Given the description of an element on the screen output the (x, y) to click on. 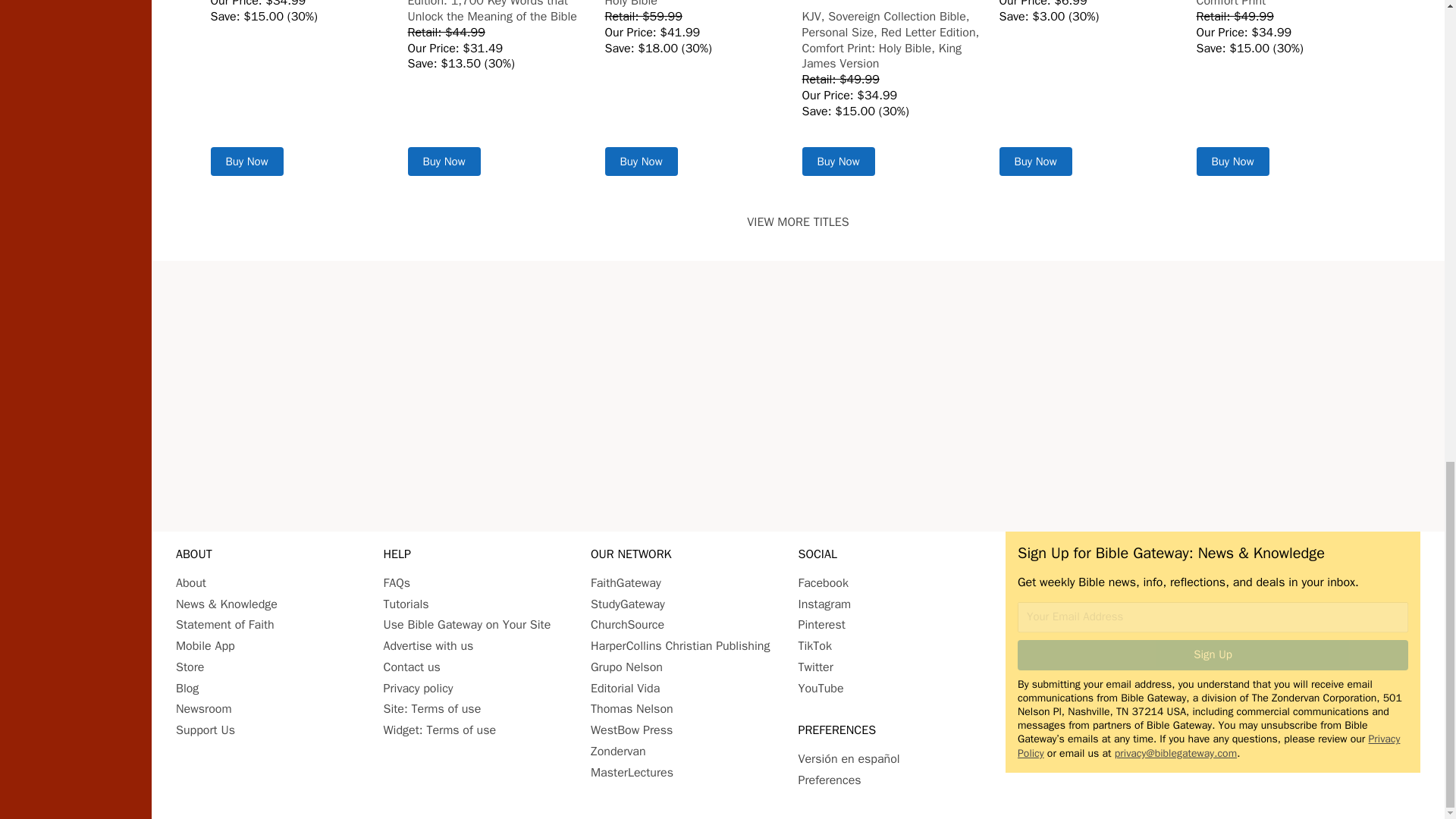
Site: Terms of use (432, 708)
Set your preferences for BibleGateway.com (828, 780)
Sign Up (1212, 654)
Widget: Terms of use (440, 729)
